Given the description of an element on the screen output the (x, y) to click on. 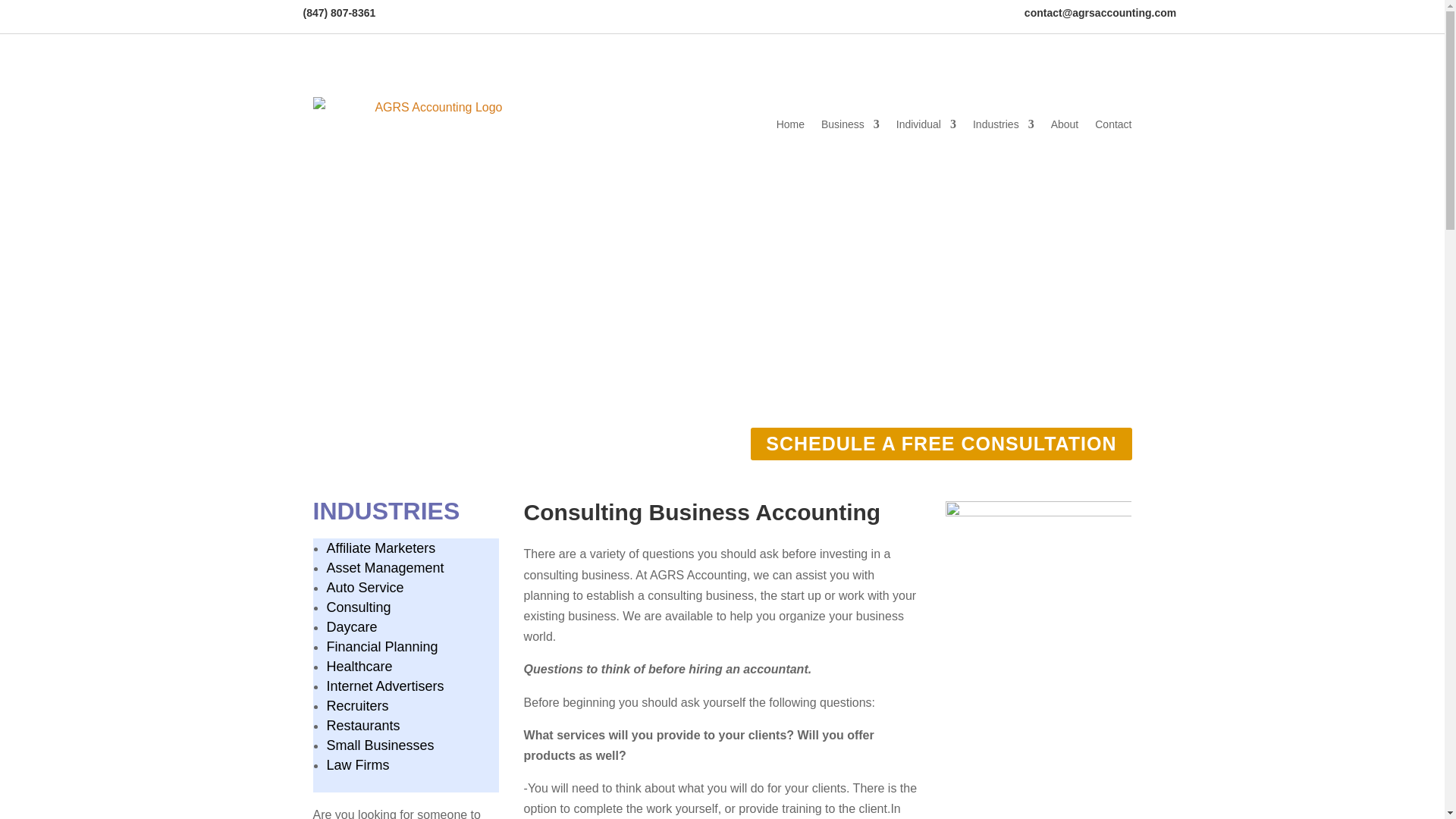
Business (850, 124)
Individual (926, 124)
